Given the description of an element on the screen output the (x, y) to click on. 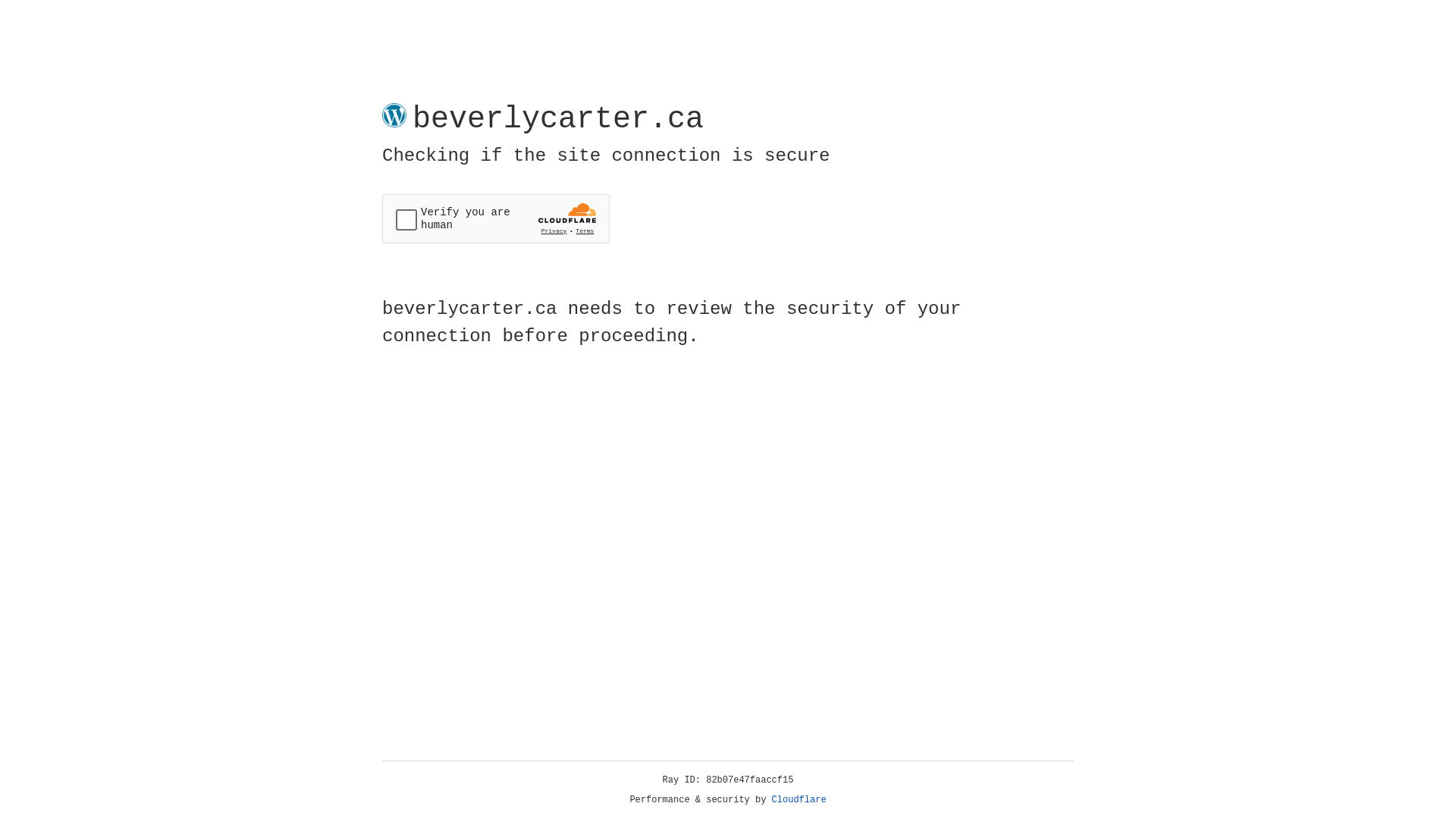
Widget containing a Cloudflare security challenge Element type: hover (495, 218)
Cloudflare Element type: text (798, 799)
